Given the description of an element on the screen output the (x, y) to click on. 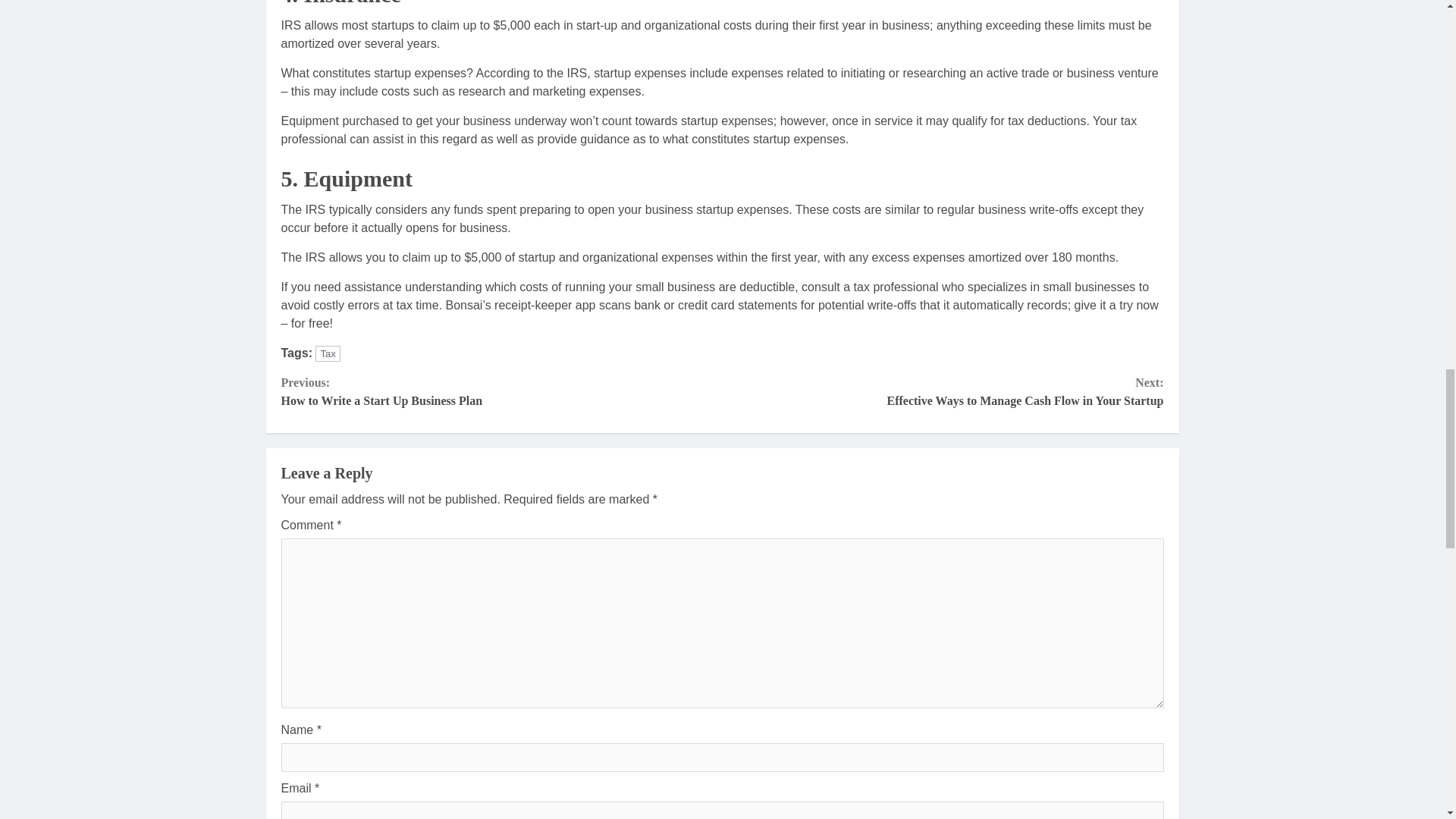
Tax (942, 391)
